Given the description of an element on the screen output the (x, y) to click on. 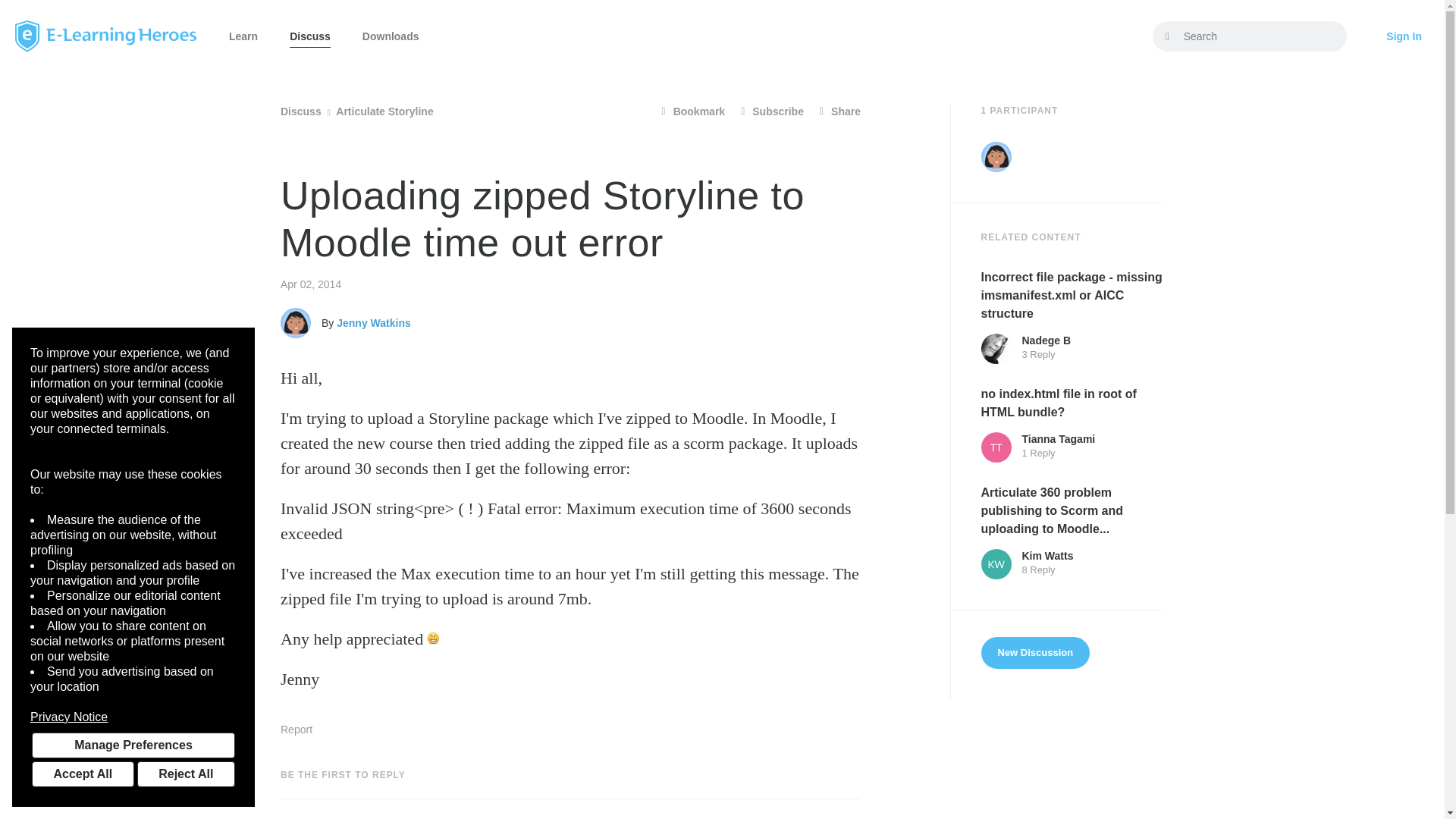
Reject All (185, 774)
Jenny Watkins (296, 322)
Tianna Tagami (996, 447)
Manage Preferences (133, 745)
Nadege B (996, 348)
Jenny Watkins (996, 156)
E-Learning Heroes (105, 36)
Privacy Notice (132, 717)
Accept All (82, 774)
Kim Watts (996, 563)
